Given the description of an element on the screen output the (x, y) to click on. 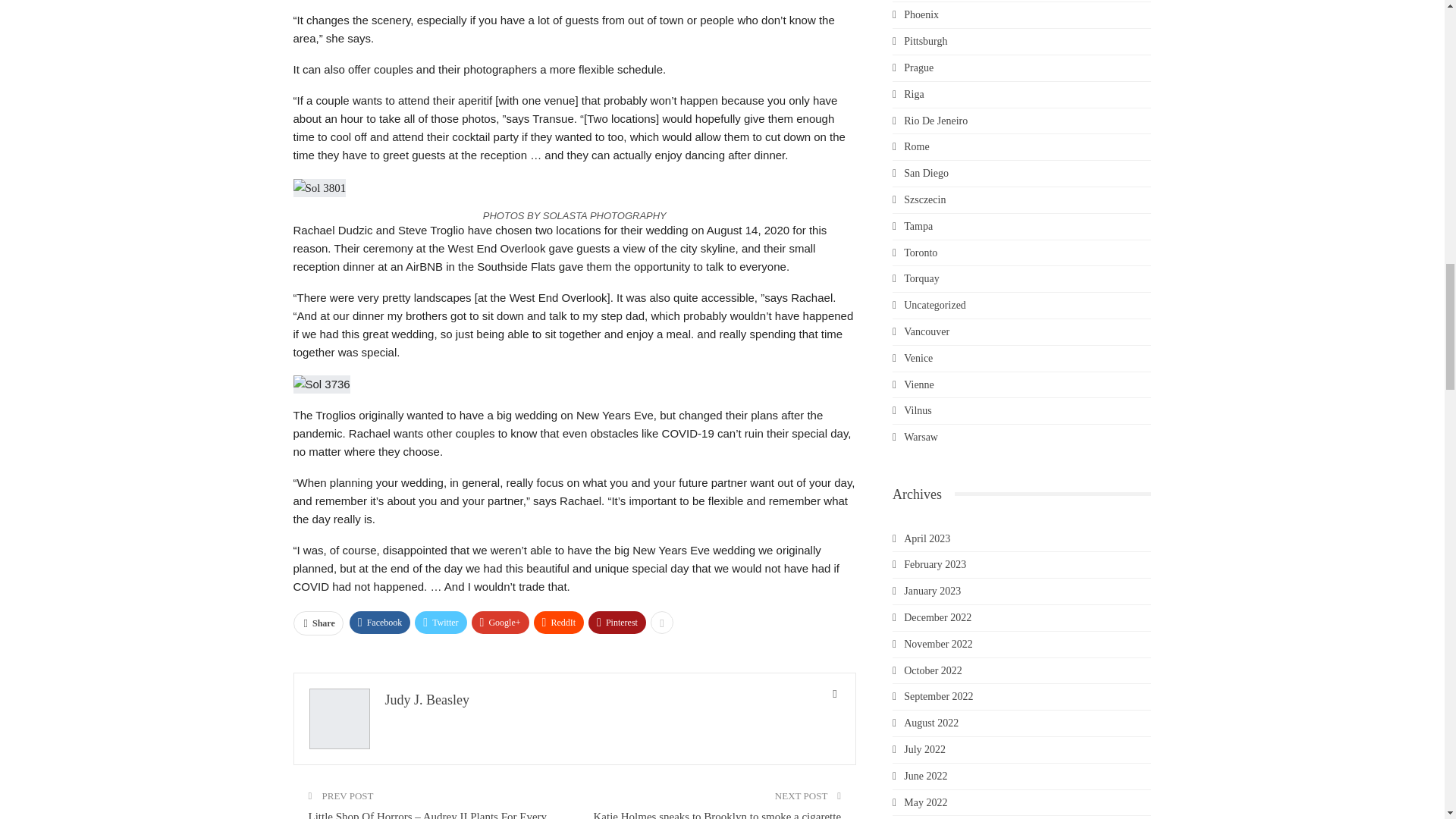
Twitter (439, 621)
Facebook (379, 621)
Judy J. Beasley (427, 699)
ReddIt (559, 621)
Pinterest (617, 621)
